Given the description of an element on the screen output the (x, y) to click on. 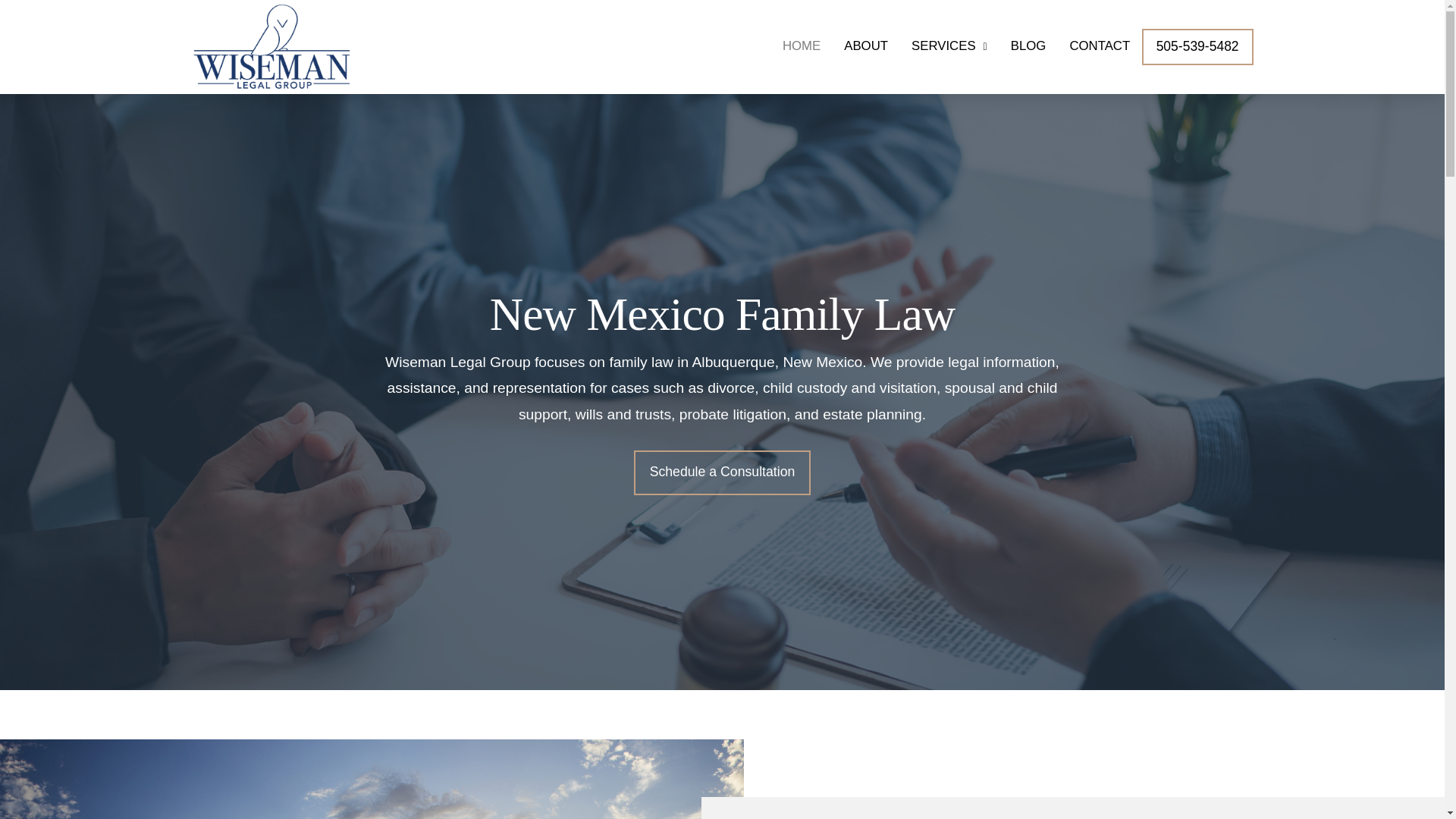
HOME (800, 46)
ABOUT (865, 46)
CONTACT (1099, 46)
Schedule a Consultation (721, 472)
505-539-5482 (1197, 46)
SERVICES (948, 46)
BLOG (1028, 46)
